Given the description of an element on the screen output the (x, y) to click on. 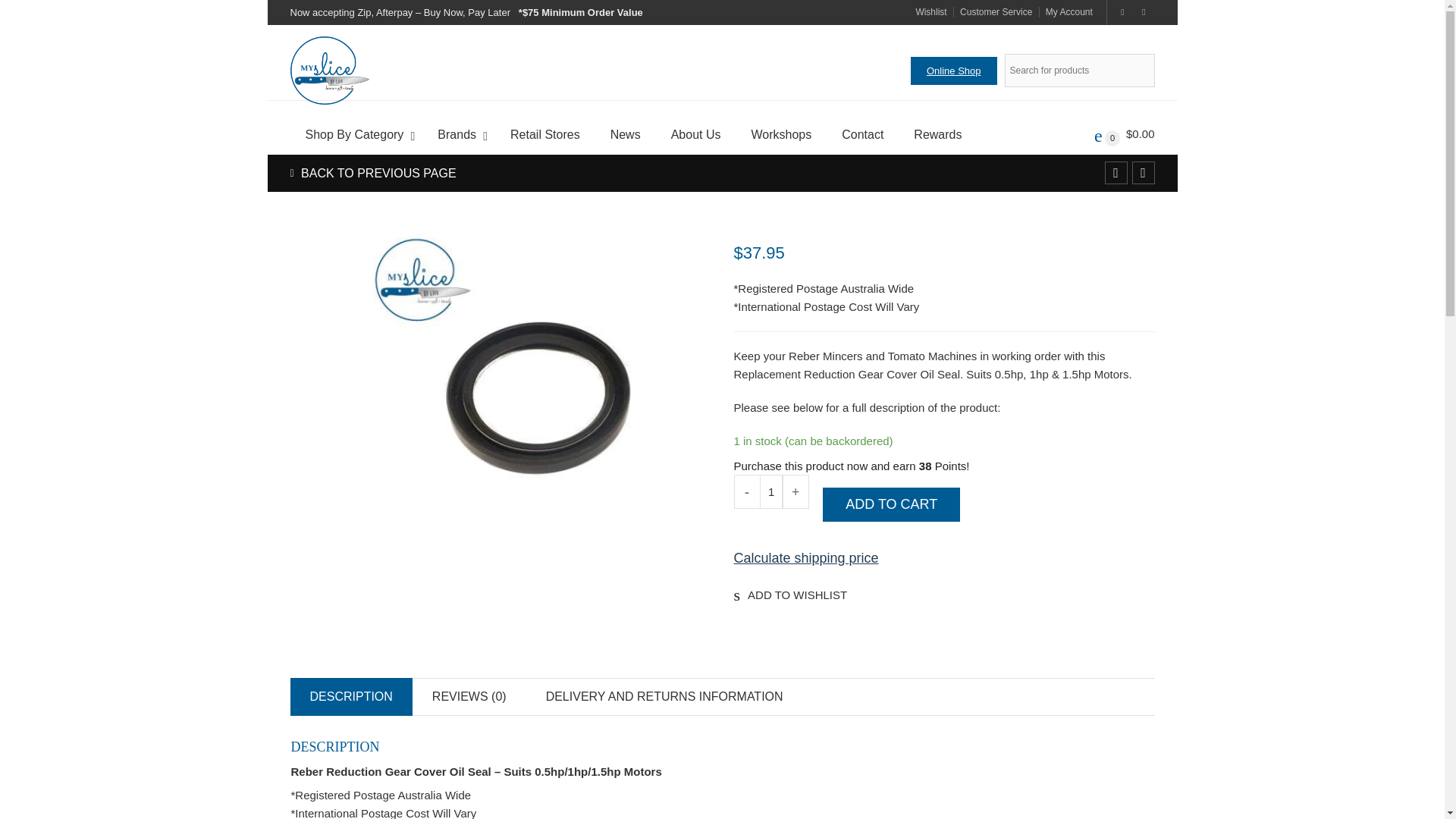
1 (771, 491)
My Account (1066, 11)
- (746, 491)
Online Shop (954, 70)
View your shopping cart (1124, 134)
PayPal (943, 630)
Customer Service (992, 11)
Wishlist (930, 11)
Shop By Category (355, 135)
